Given the description of an element on the screen output the (x, y) to click on. 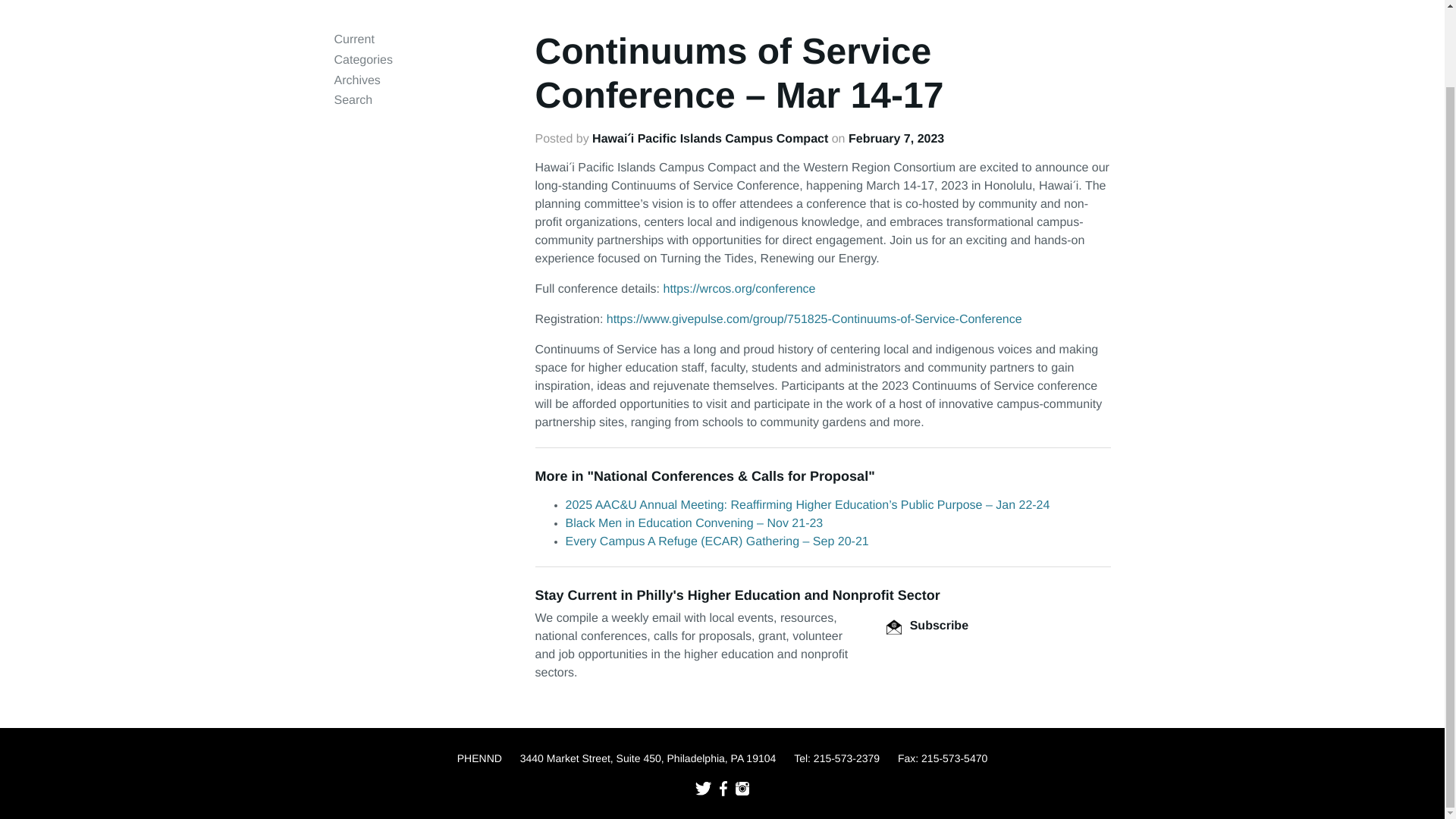
February 7, 2023 (895, 138)
Search (352, 100)
Subscribe (927, 625)
Archives (356, 80)
Current (353, 39)
Categories (362, 60)
